Given the description of an element on the screen output the (x, y) to click on. 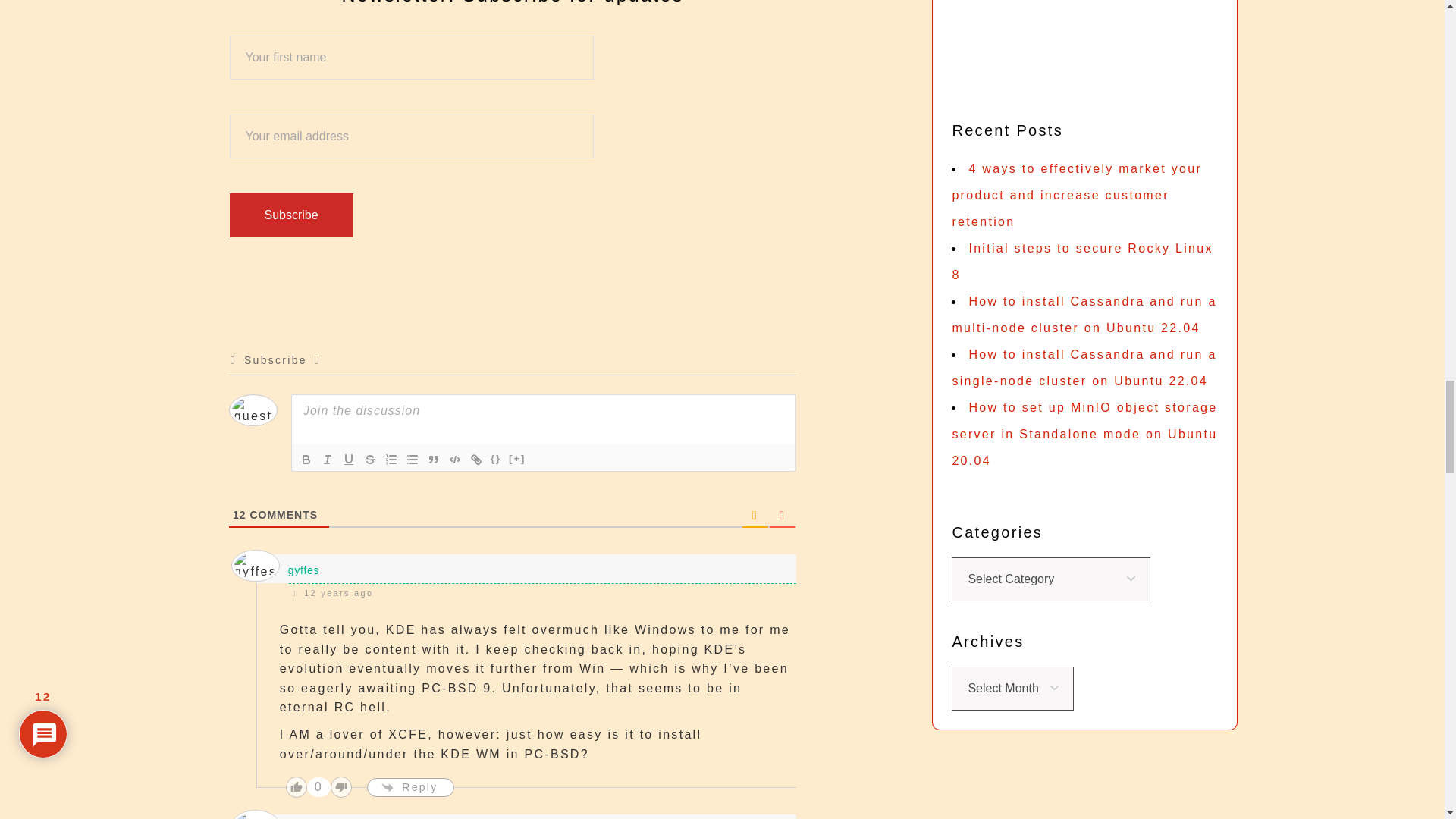
Bold (306, 459)
Underline (348, 459)
Italic (327, 459)
Subscribe (290, 215)
